Given the description of an element on the screen output the (x, y) to click on. 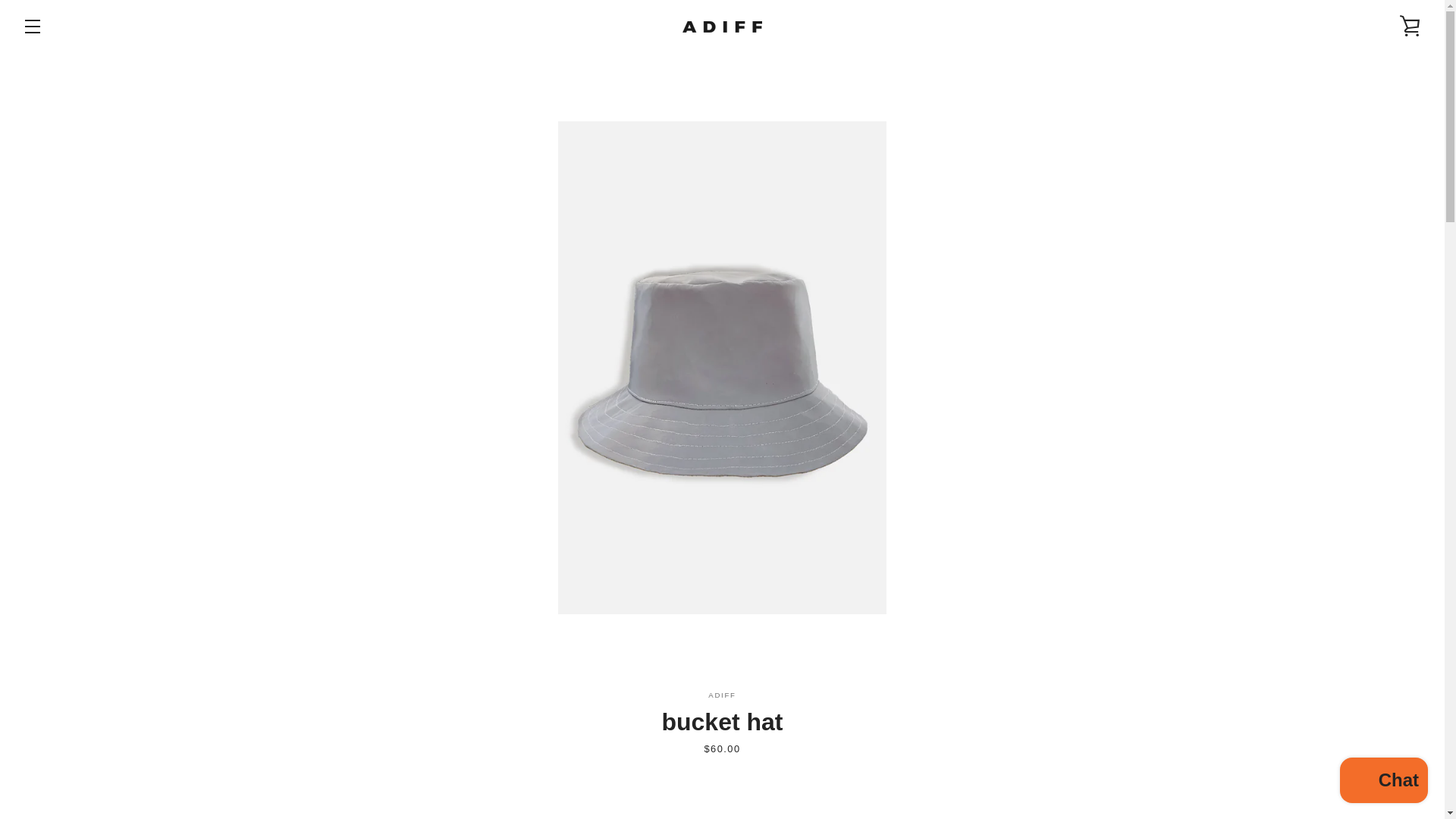
Shopify online store chat (1383, 781)
VIEW CART (1410, 26)
MENU (33, 26)
ADIFF on Facebook (809, 756)
ADIFF on YouTube (859, 756)
ADIFF on Instagram (834, 756)
